Given the description of an element on the screen output the (x, y) to click on. 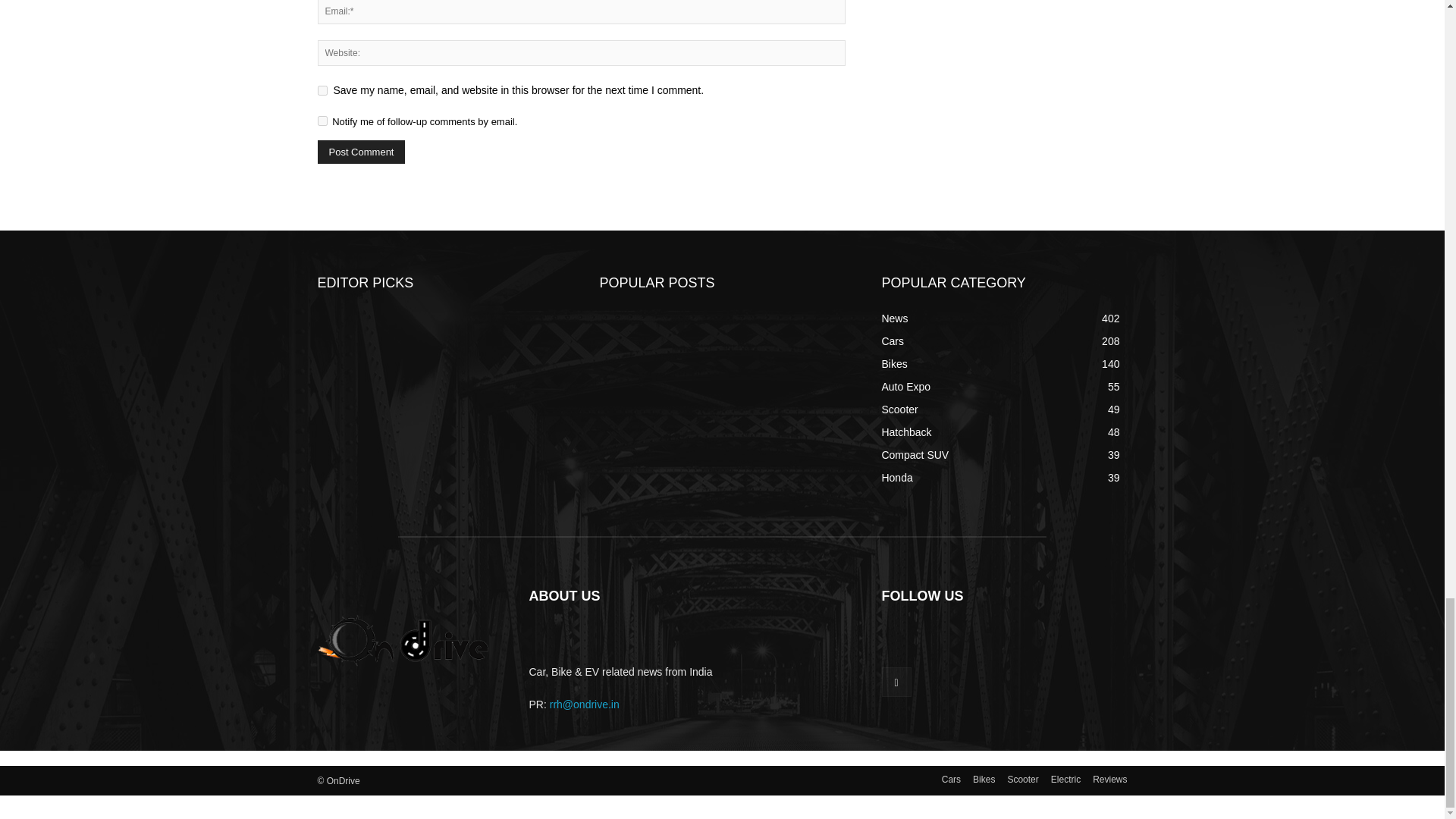
Post Comment (360, 151)
yes (321, 90)
subscribe (321, 121)
